Given the description of an element on the screen output the (x, y) to click on. 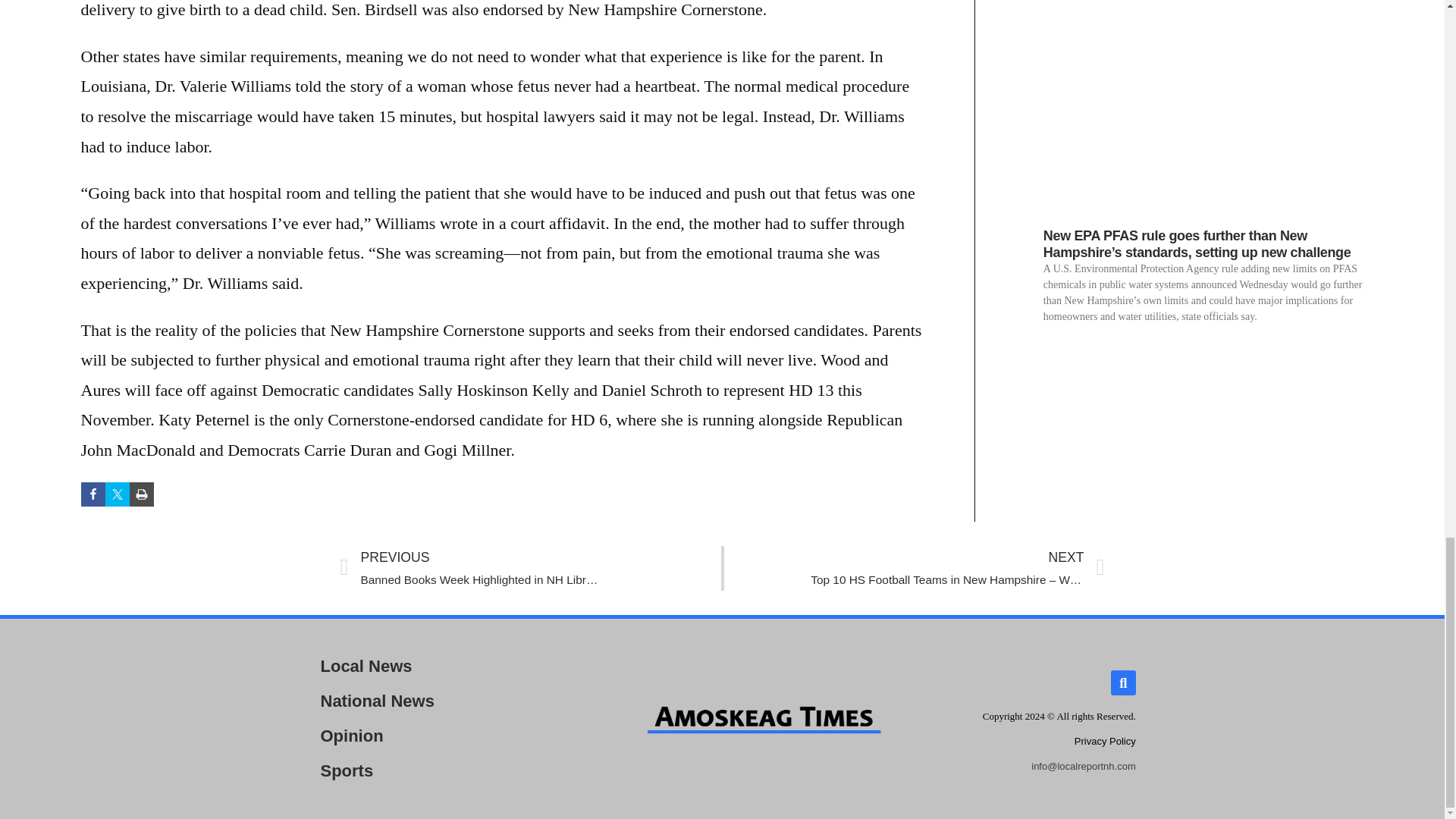
Opinion (438, 736)
Local News (529, 568)
Share on Twitter (438, 666)
Sports (116, 494)
Privacy Policy (438, 770)
Print this Page (1104, 740)
Share on Facebook (140, 494)
National News (92, 494)
